Given the description of an element on the screen output the (x, y) to click on. 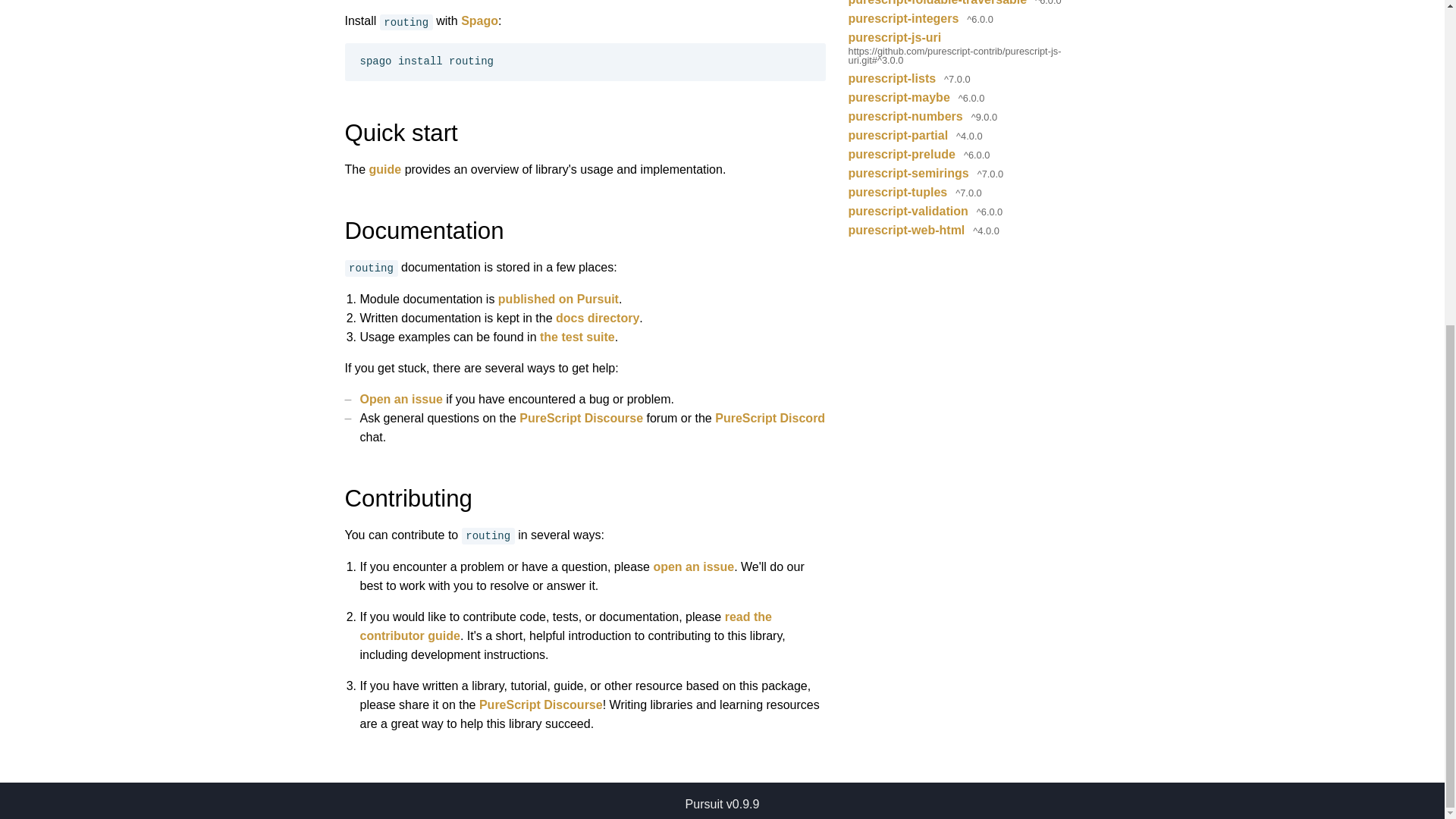
purescript-foldable-traversable (937, 4)
the test suite (577, 336)
open an issue (692, 566)
docs directory (597, 318)
purescript-integers (903, 18)
read the contributor guide (565, 626)
PureScript Discord (769, 418)
PureScript Discourse (540, 704)
purescript-js-uri (895, 36)
published on Pursuit (557, 298)
